Given the description of an element on the screen output the (x, y) to click on. 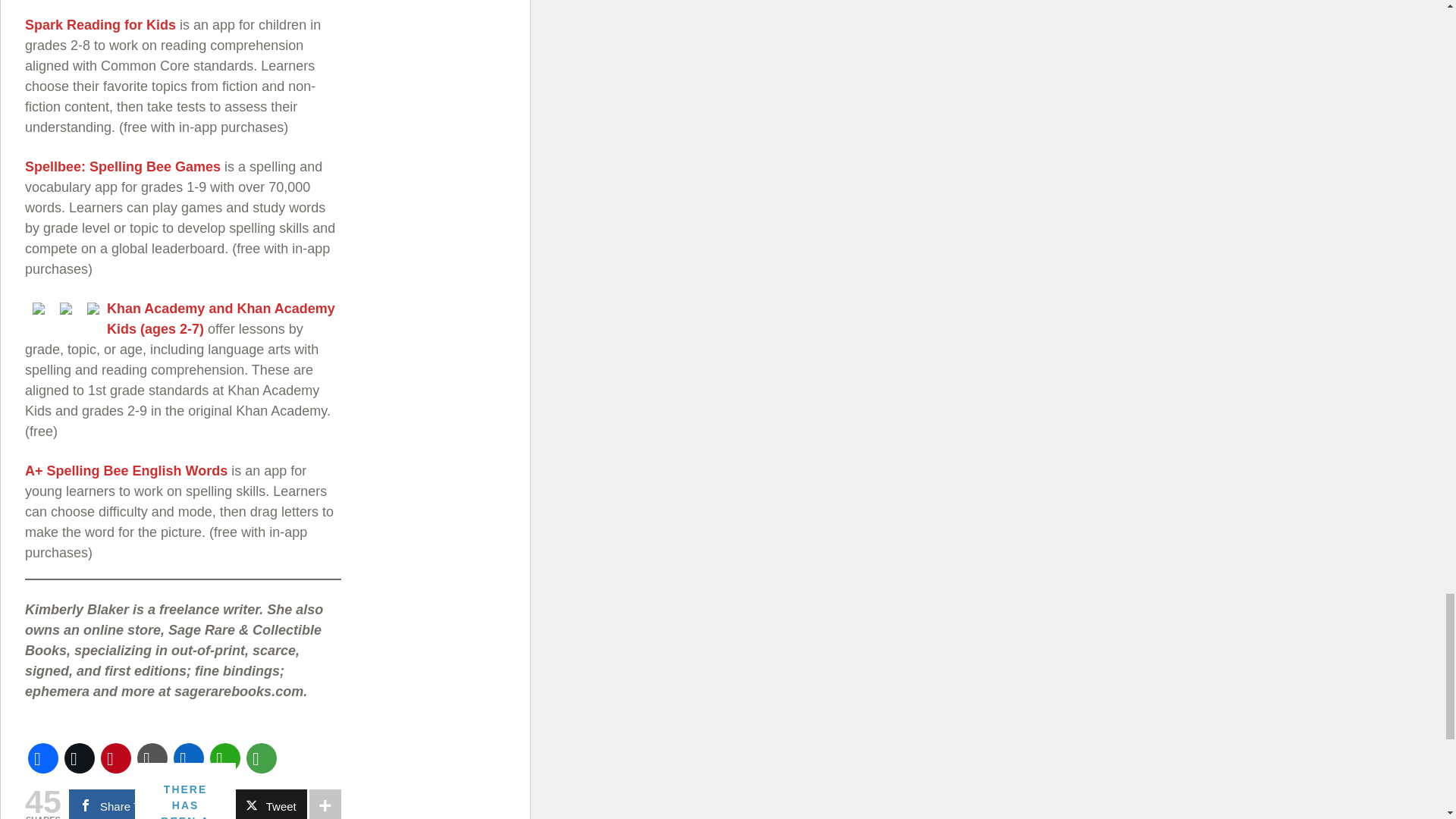
LinkedIn (188, 758)
WhatsApp (224, 758)
Copy Link (151, 758)
Pinterest (115, 758)
More Options (261, 758)
Facebook (42, 758)
